Given the description of an element on the screen output the (x, y) to click on. 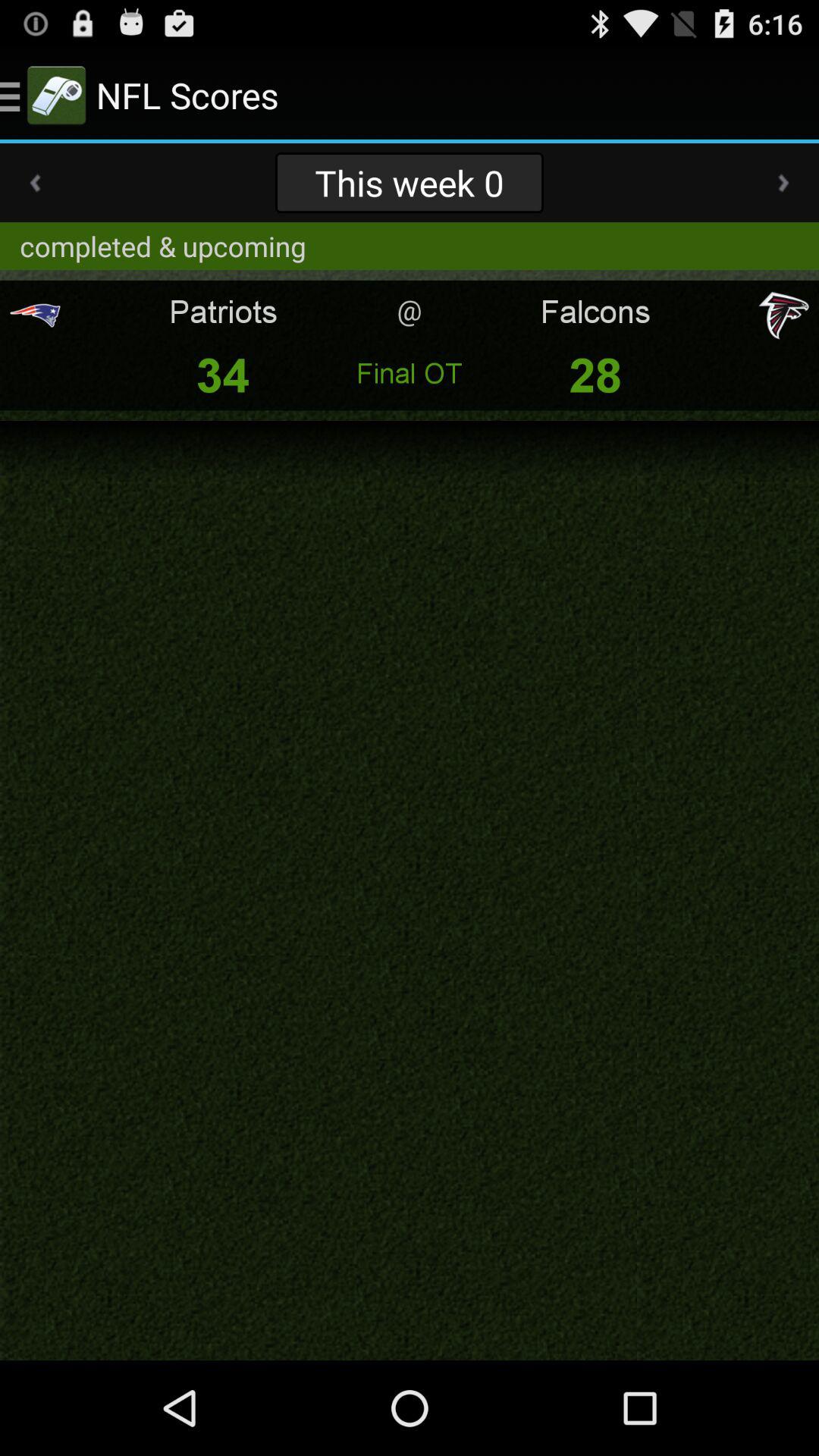
open app above falcons item (783, 182)
